Given the description of an element on the screen output the (x, y) to click on. 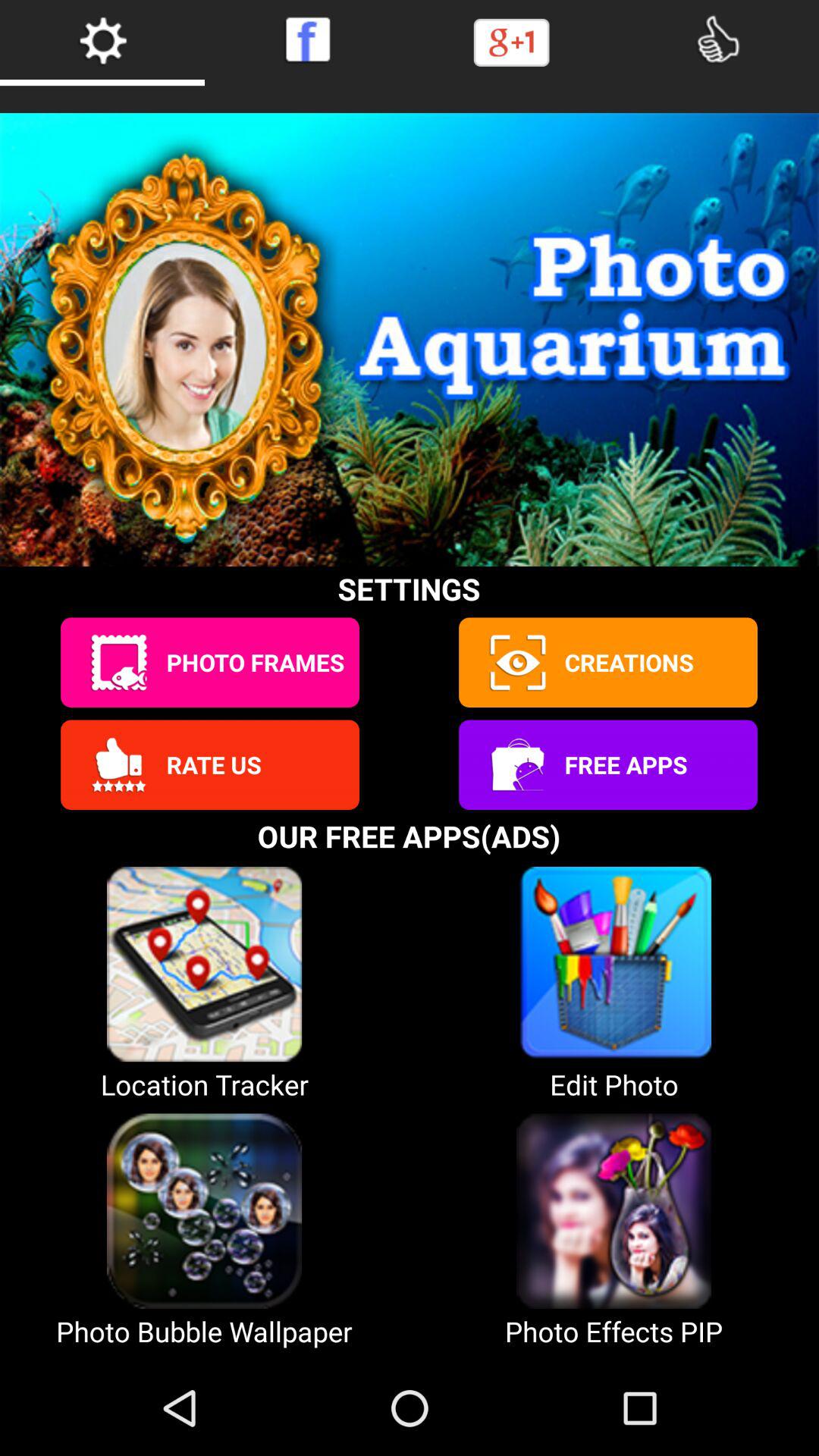
like it (716, 39)
